Given the description of an element on the screen output the (x, y) to click on. 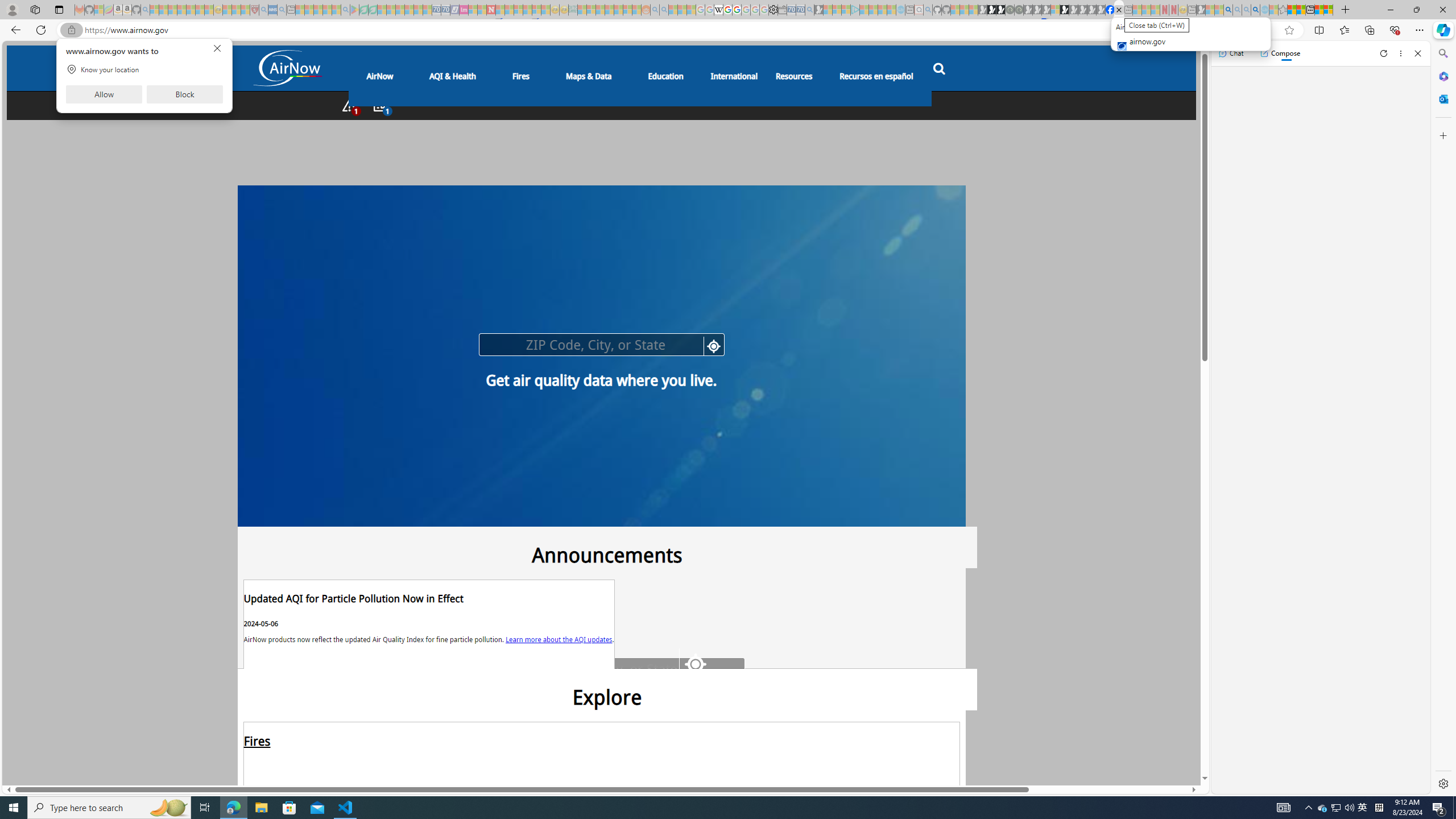
Bing AI - Search (1227, 9)
Class: main-link dropbtn-nav-link (876, 75)
Learn more about the AQI updates (558, 638)
Future Focus Report 2024 - Sleeping (1018, 9)
